Given the description of an element on the screen output the (x, y) to click on. 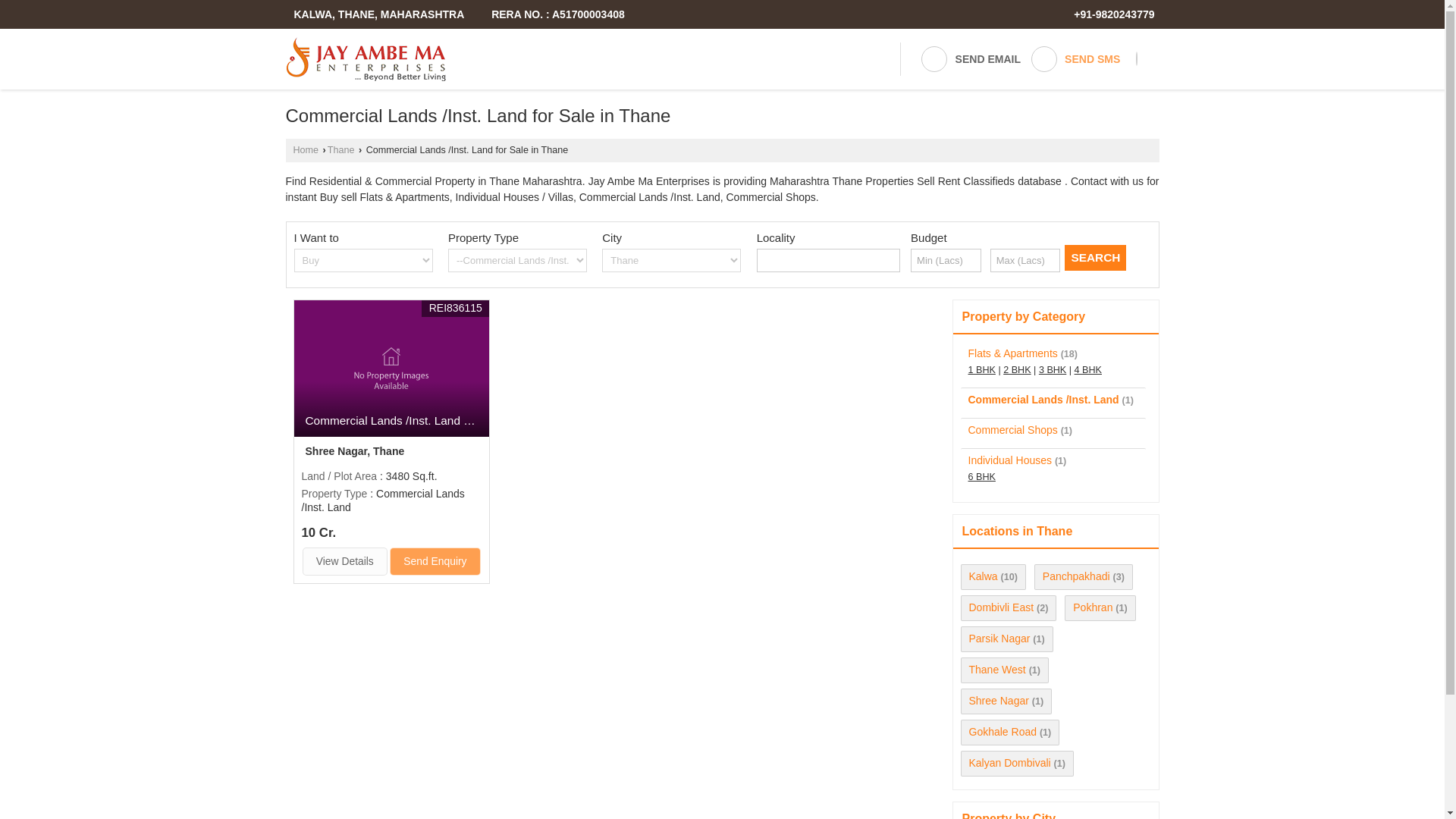
SEND SMS (1075, 59)
SEARCH (1094, 257)
SEND EMAIL (970, 59)
Jay Ambe Ma Enterprises (365, 58)
